Given the description of an element on the screen output the (x, y) to click on. 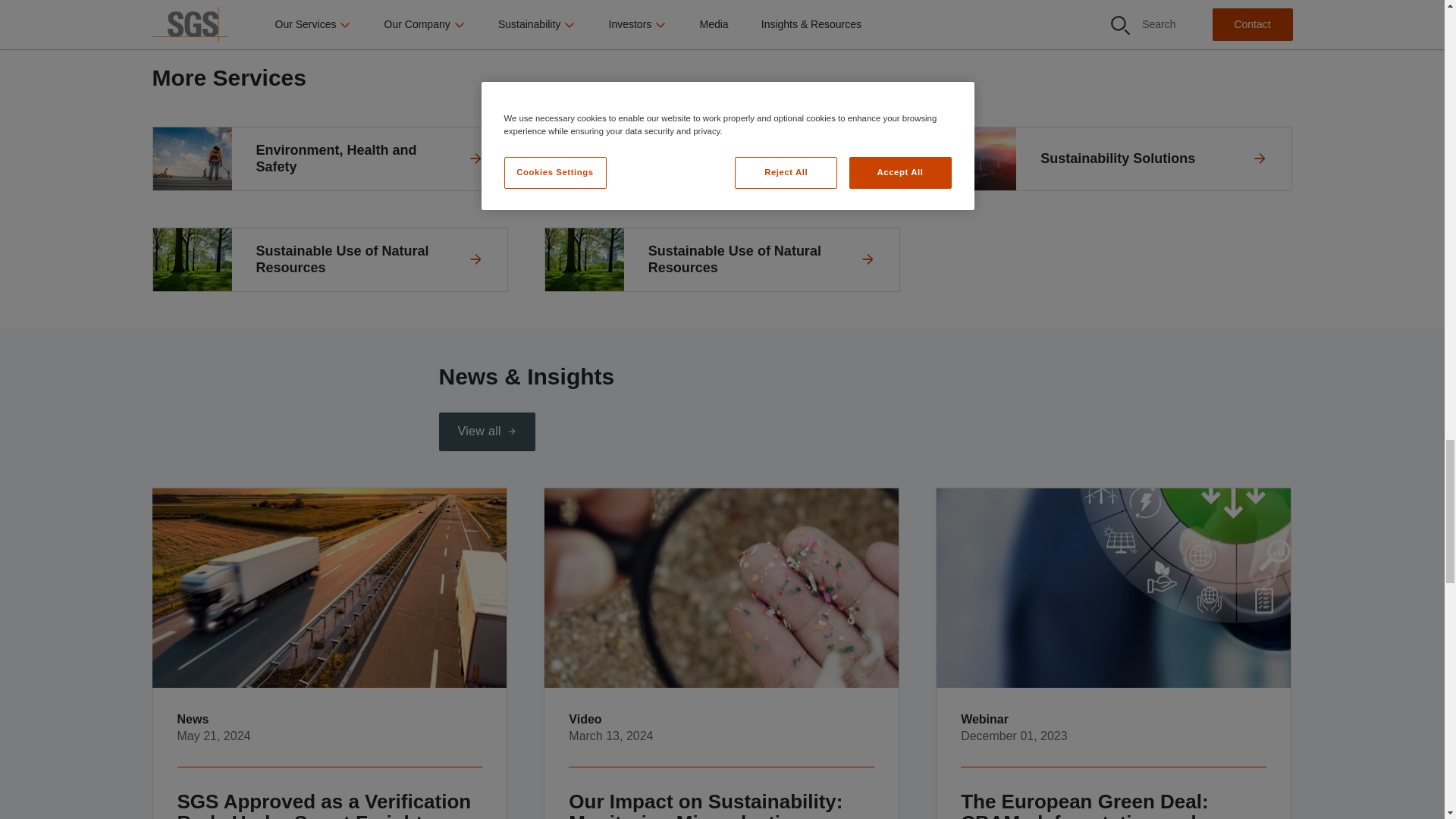
Environment, Health and Safety (329, 158)
Sustainability Solutions (1114, 158)
